Given the description of an element on the screen output the (x, y) to click on. 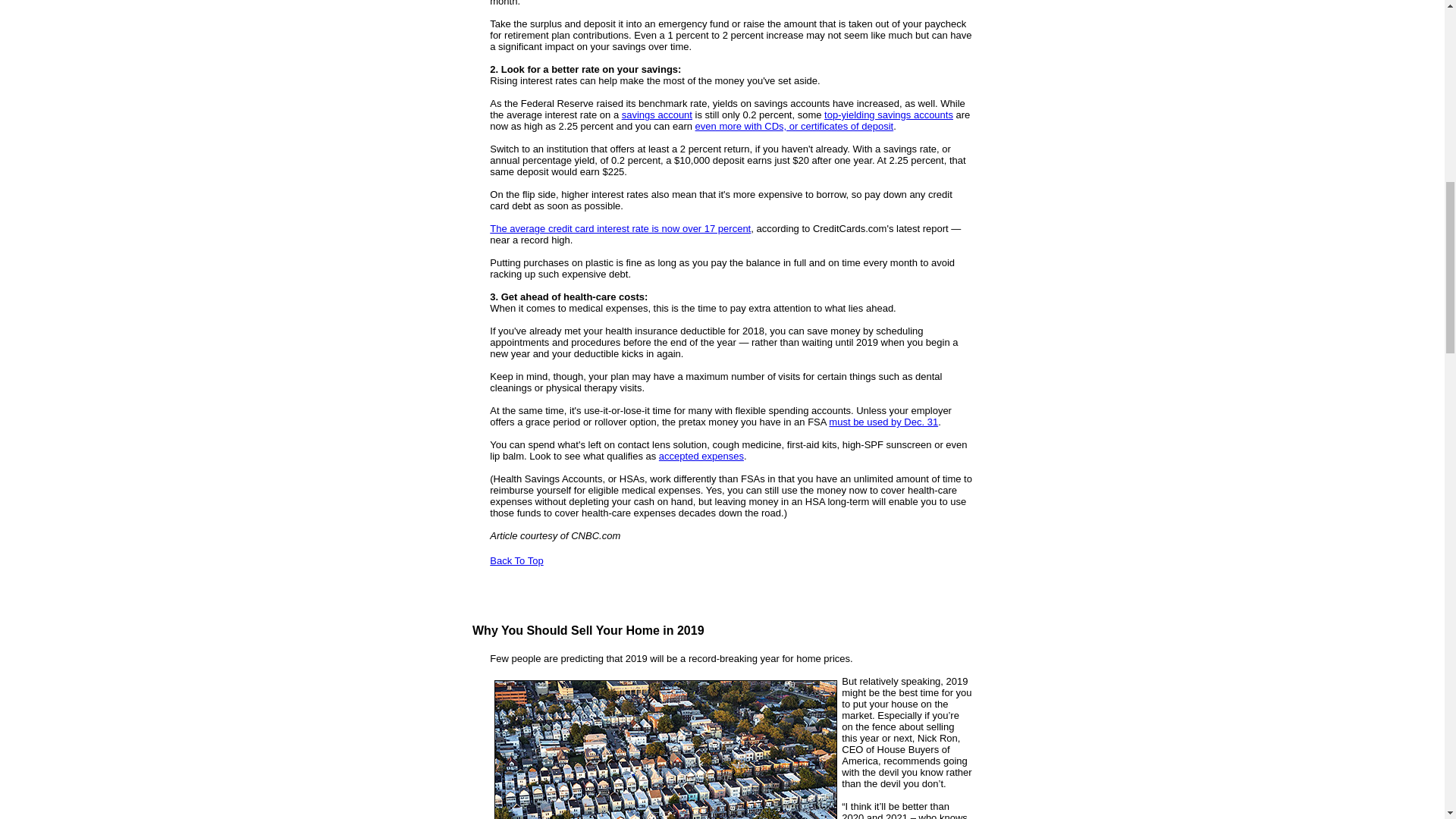
top-yielding savings accounts (888, 114)
savings account (657, 114)
accepted expenses (701, 455)
Houses (666, 749)
even more with CDs, or certificates of deposit (794, 125)
must be used by Dec. 31 (882, 421)
The average credit card interest rate is now over 17 percent (620, 228)
Back To Top (516, 560)
